Given the description of an element on the screen output the (x, y) to click on. 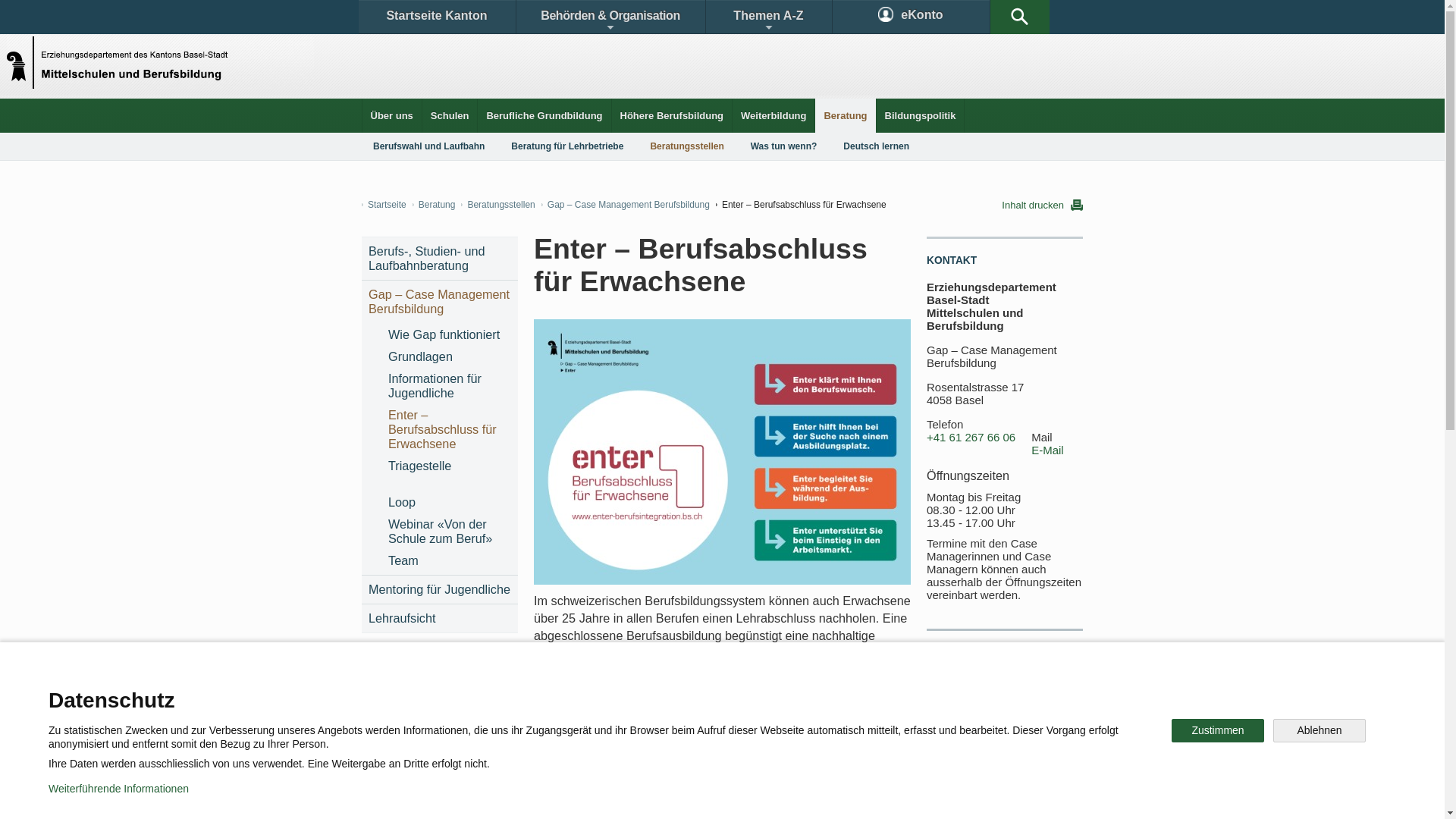
eKonto Element type: text (910, 17)
Schulen Element type: text (449, 115)
Berufs-, Studien- und Laufbahnberatung Element type: text (439, 258)
Was tun wenn? Element type: text (783, 145)
Zur mobilen Ansicht Element type: text (752, 796)
Beratung Element type: text (845, 115)
Ablehnen Element type: text (1319, 730)
Twitter Element type: text (642, 746)
Instagram Element type: text (738, 746)
Publikationen Element type: text (795, 693)
Startseite Kanton Element type: text (435, 17)
Bildungspolitik Element type: text (920, 115)
Loop Element type: text (449, 502)
Triagestelle Element type: text (449, 473)
Weiterbildung Element type: text (773, 115)
Themen A-Z Element type: text (768, 17)
Gesetze Element type: text (597, 693)
Beratungsstellen Element type: text (686, 145)
Inhalt drucken Element type: text (1041, 204)
Berufswahl und Laufbahn Element type: text (428, 145)
Deutsch lernen Element type: text (875, 145)
Beratungsstellen Element type: text (497, 204)
Zustimmen Element type: text (1217, 730)
Bild & Multimedia Element type: text (908, 693)
Lehraufsicht Element type: text (439, 618)
Grundlagen Element type: text (449, 356)
Facebook Element type: text (547, 746)
Impressum Element type: text (648, 796)
Team Element type: text (449, 560)
Nutzungsregelungen Element type: text (542, 796)
Statistiken Element type: text (687, 693)
Wie Gap funktioniert Element type: text (449, 334)
Startseite Element type: text (383, 204)
+41 61 267 66 06 Element type: text (970, 437)
E-Mail Element type: text (1047, 450)
Berufliche Grundbildung Element type: text (543, 115)
Beratung Element type: text (433, 204)
Kontakt Element type: text (406, 693)
Stadtplan & Karte Element type: text (504, 693)
